Given the description of an element on the screen output the (x, y) to click on. 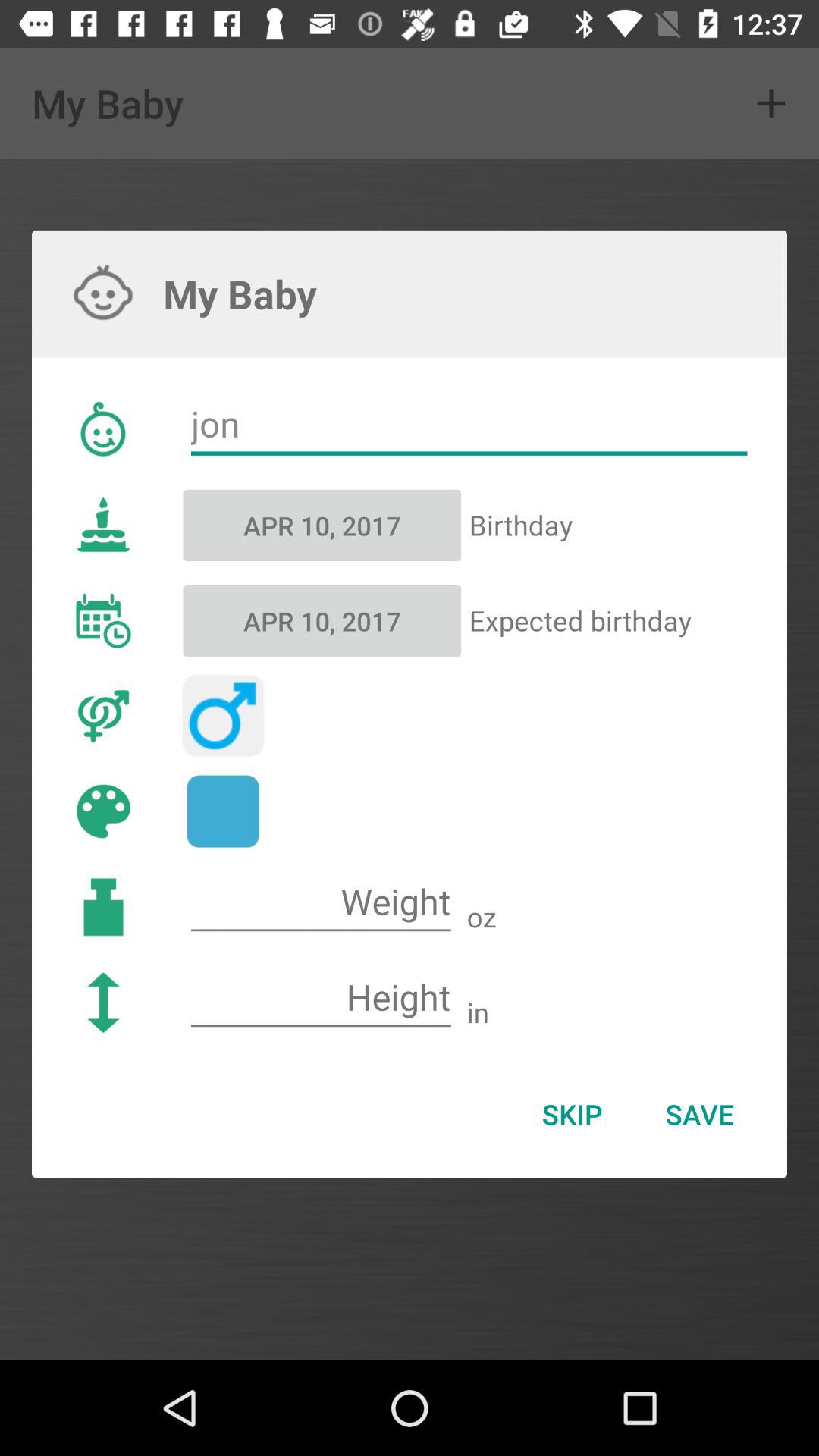
fill the blank space (320, 998)
